Given the description of an element on the screen output the (x, y) to click on. 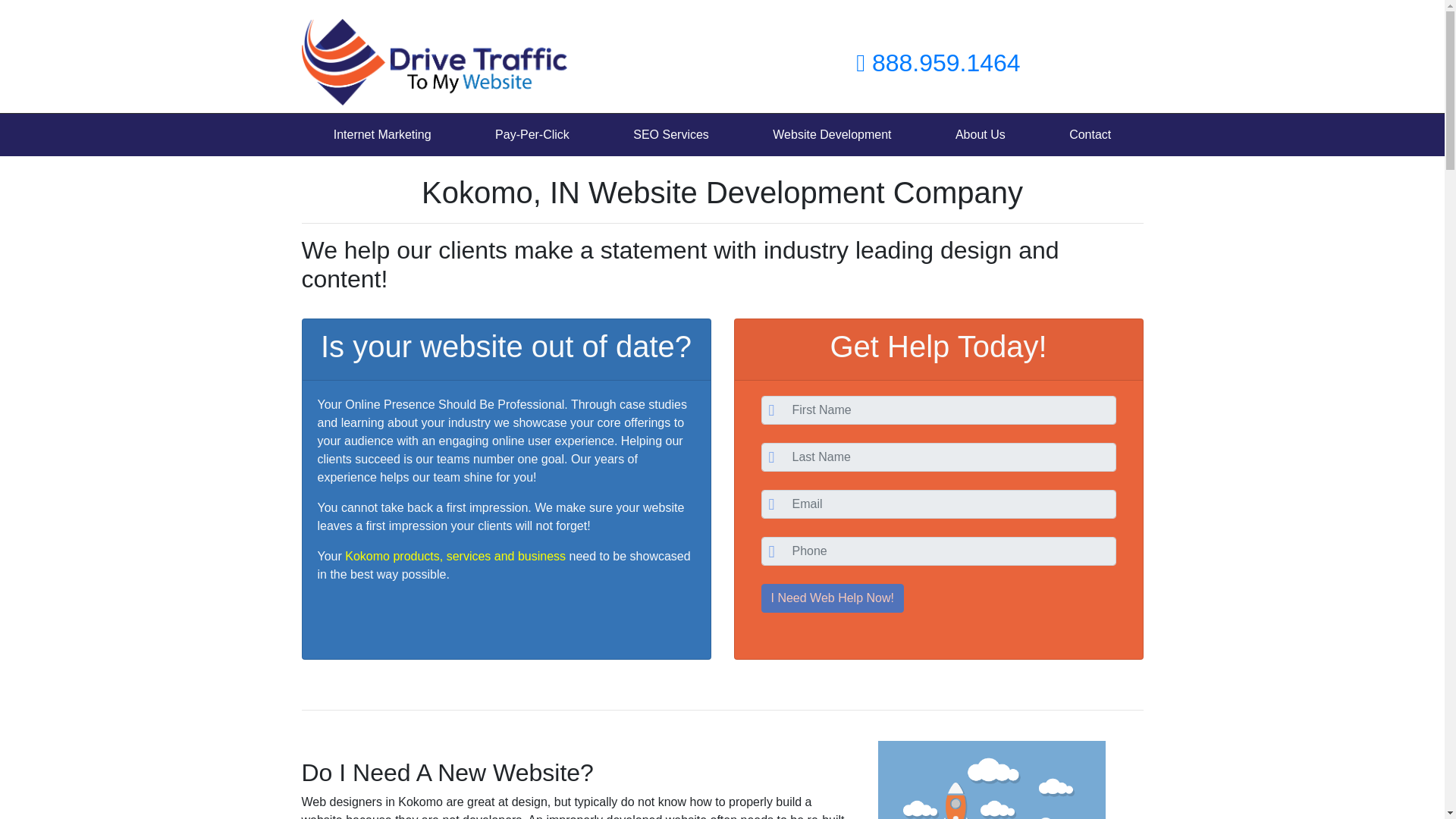
888.959.1464 (938, 62)
I Need Web Help Now! (832, 597)
Internet Marketing (382, 134)
I Need Web Help Now! (832, 597)
Kokomo products, services and business (455, 555)
SEO Services (670, 134)
About Us (980, 134)
Contact (1089, 134)
Pay-Per-Click (532, 134)
Website Development (831, 134)
